Given the description of an element on the screen output the (x, y) to click on. 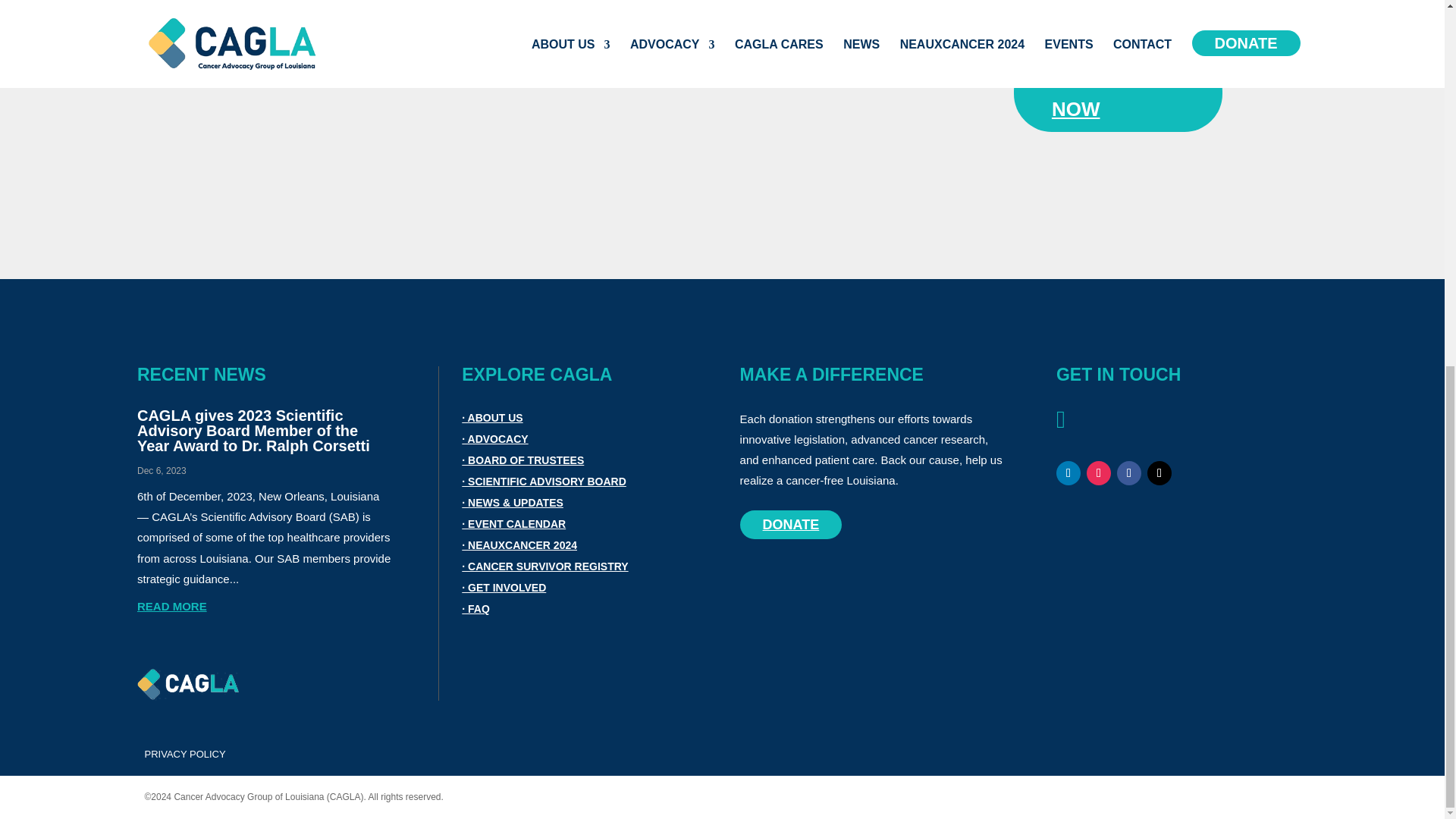
DONATE NOW (1118, 92)
Follow on Facebook (1128, 473)
Follow on LinkedIn (1068, 473)
cagla-logo-reversed (187, 685)
Follow on X (1159, 473)
Follow on Instagram (1098, 473)
